Given the description of an element on the screen output the (x, y) to click on. 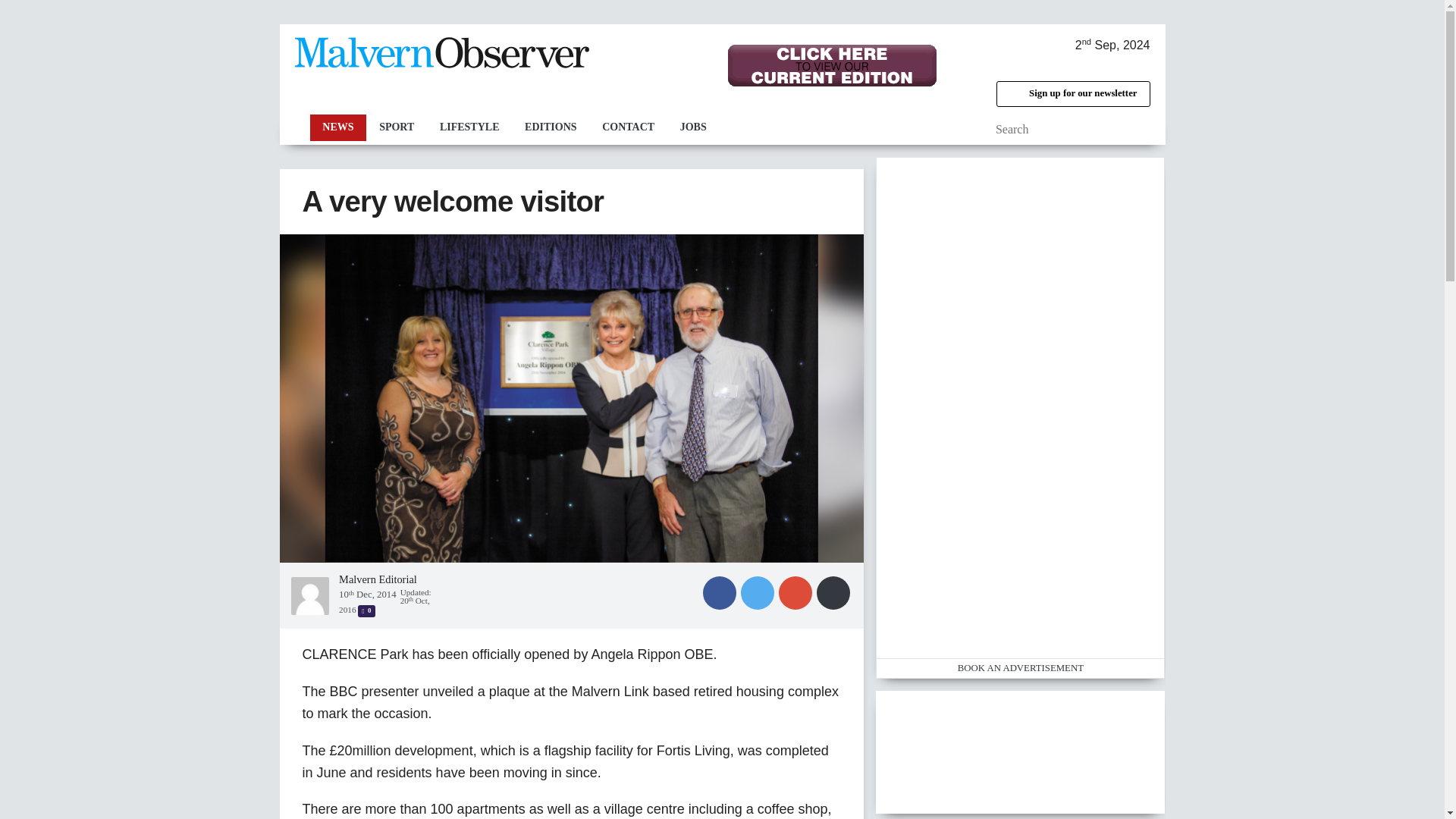
CONTACT (627, 127)
SPORT (396, 127)
EDITIONS (550, 127)
The Malvern Observer (441, 55)
  Sign up for our newsletter (1072, 94)
JOBS (692, 127)
NEWS (337, 127)
LIFESTYLE (469, 127)
